Given the description of an element on the screen output the (x, y) to click on. 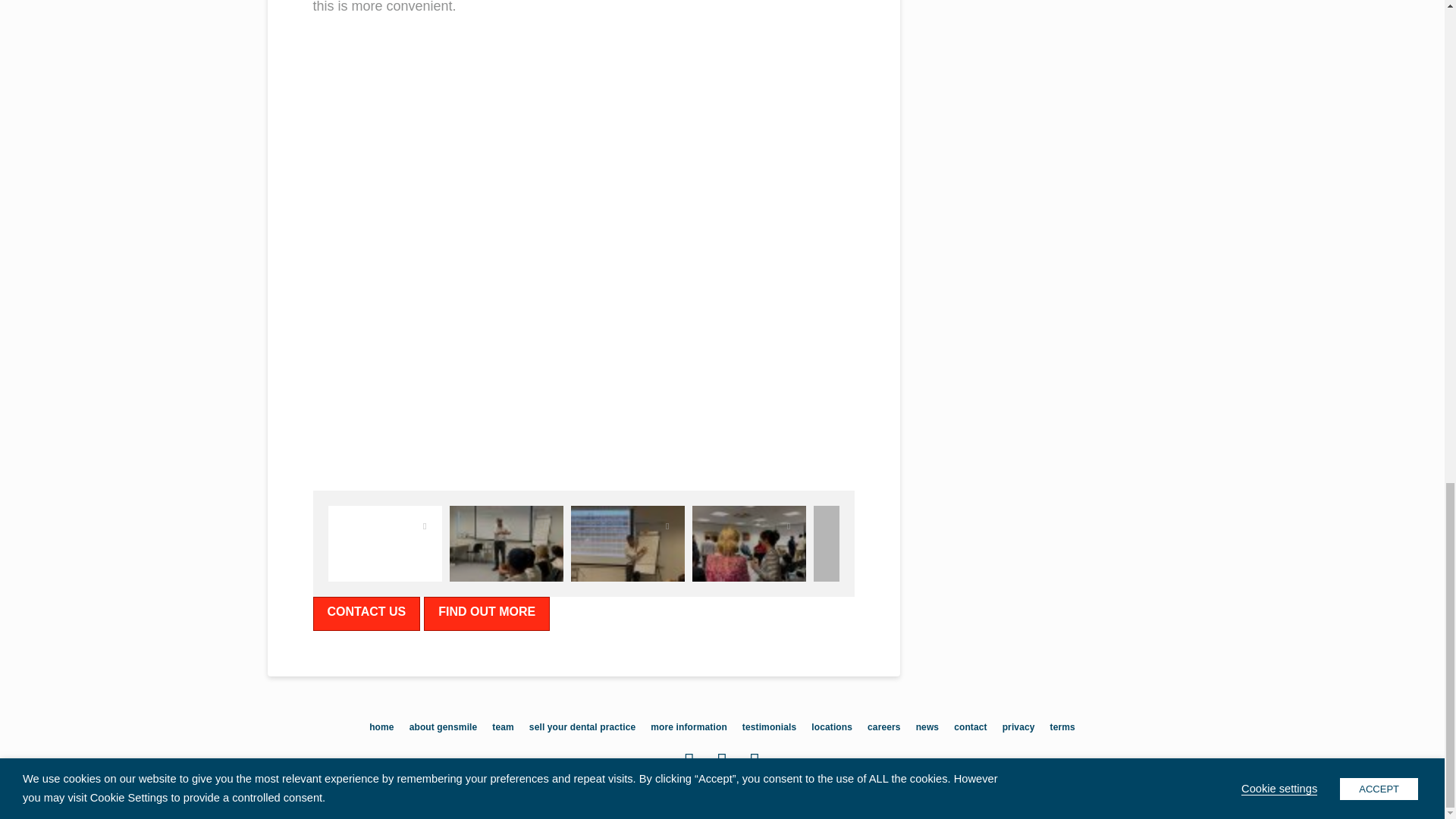
team (502, 727)
more information (688, 727)
home (381, 727)
FIND OUT MORE (486, 613)
about gensmile (443, 727)
Find out more (486, 613)
CONTACT US (366, 613)
Contact us (366, 613)
sell your dental practice (581, 727)
